Given the description of an element on the screen output the (x, y) to click on. 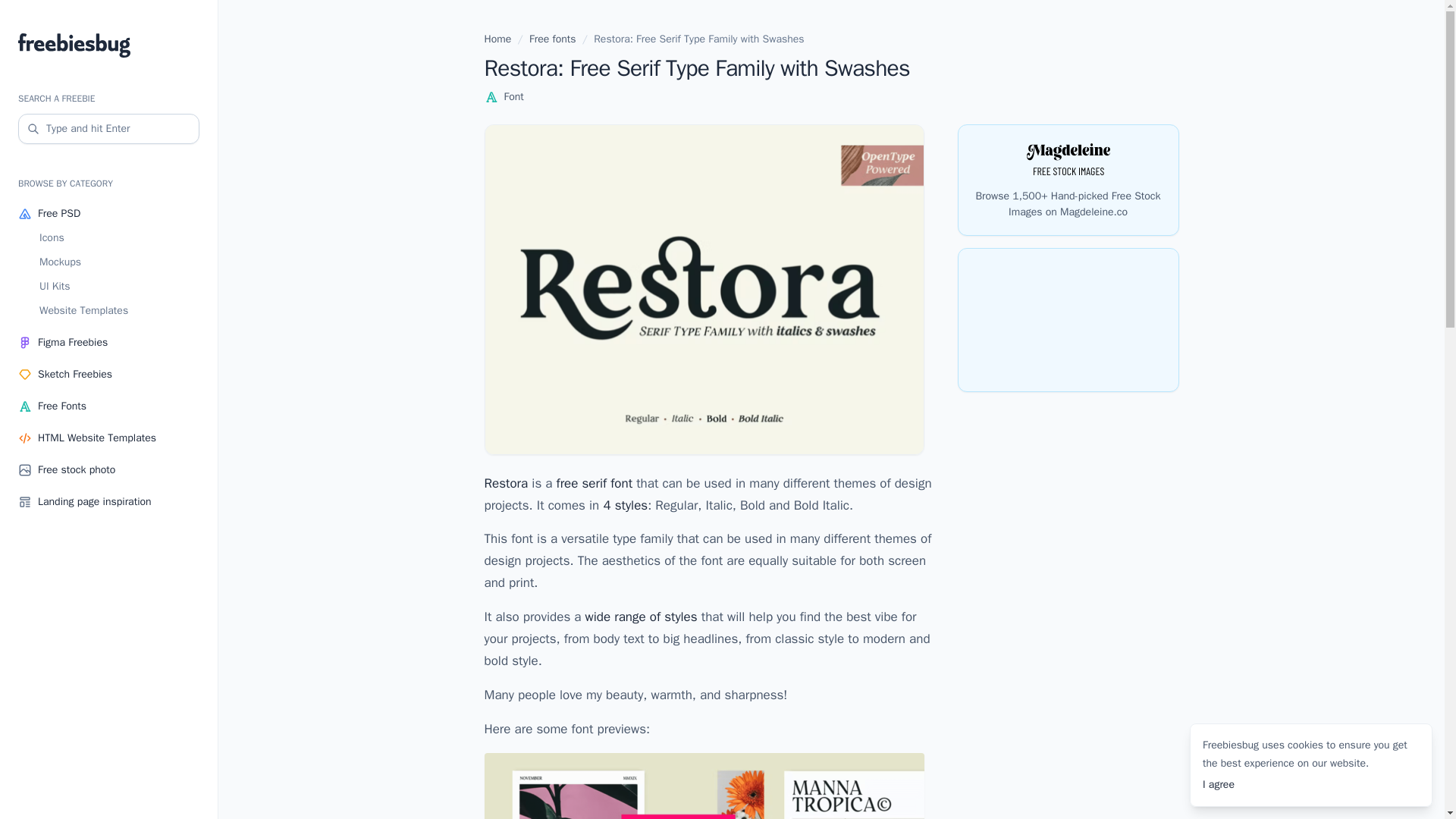
Icons (119, 238)
Free stock photo (108, 470)
Mockups (119, 262)
UI Kits (119, 286)
HTML Website Templates (108, 438)
Free PSD (108, 214)
Website Templates (119, 311)
Sketch Freebies (108, 374)
Free fonts (552, 38)
Free Fonts (108, 406)
